Given the description of an element on the screen output the (x, y) to click on. 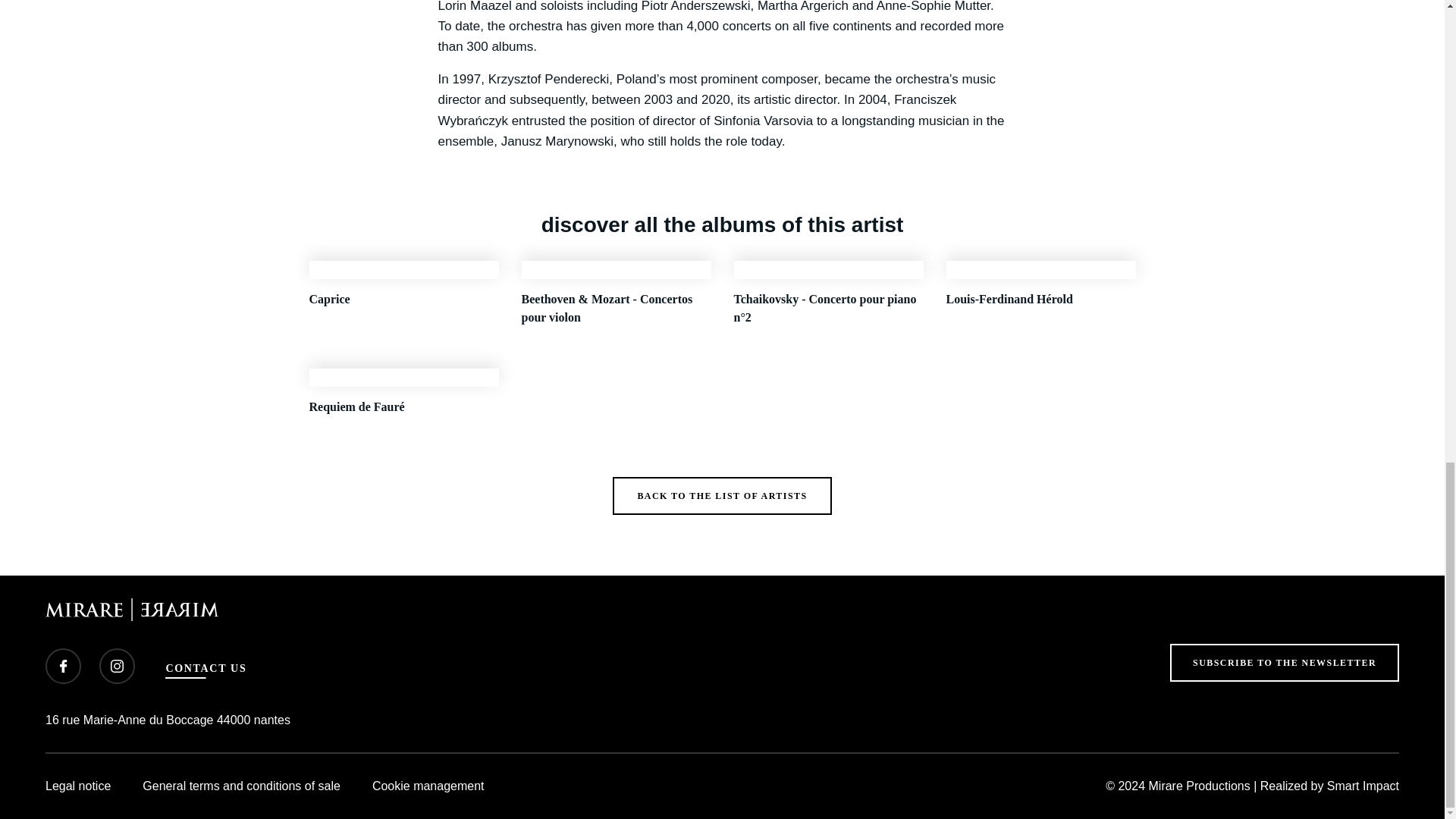
CONTACT US (205, 669)
SUBSCRIBE TO THE NEWSLETTER (1284, 662)
BACK TO THE LIST OF ARTISTS (721, 495)
Cookie management (428, 785)
Smart Impact (1362, 785)
E-commerce agency Nantes (1362, 785)
Caprice (403, 293)
General terms and conditions of sale (241, 785)
Legal notice (77, 785)
